Given the description of an element on the screen output the (x, y) to click on. 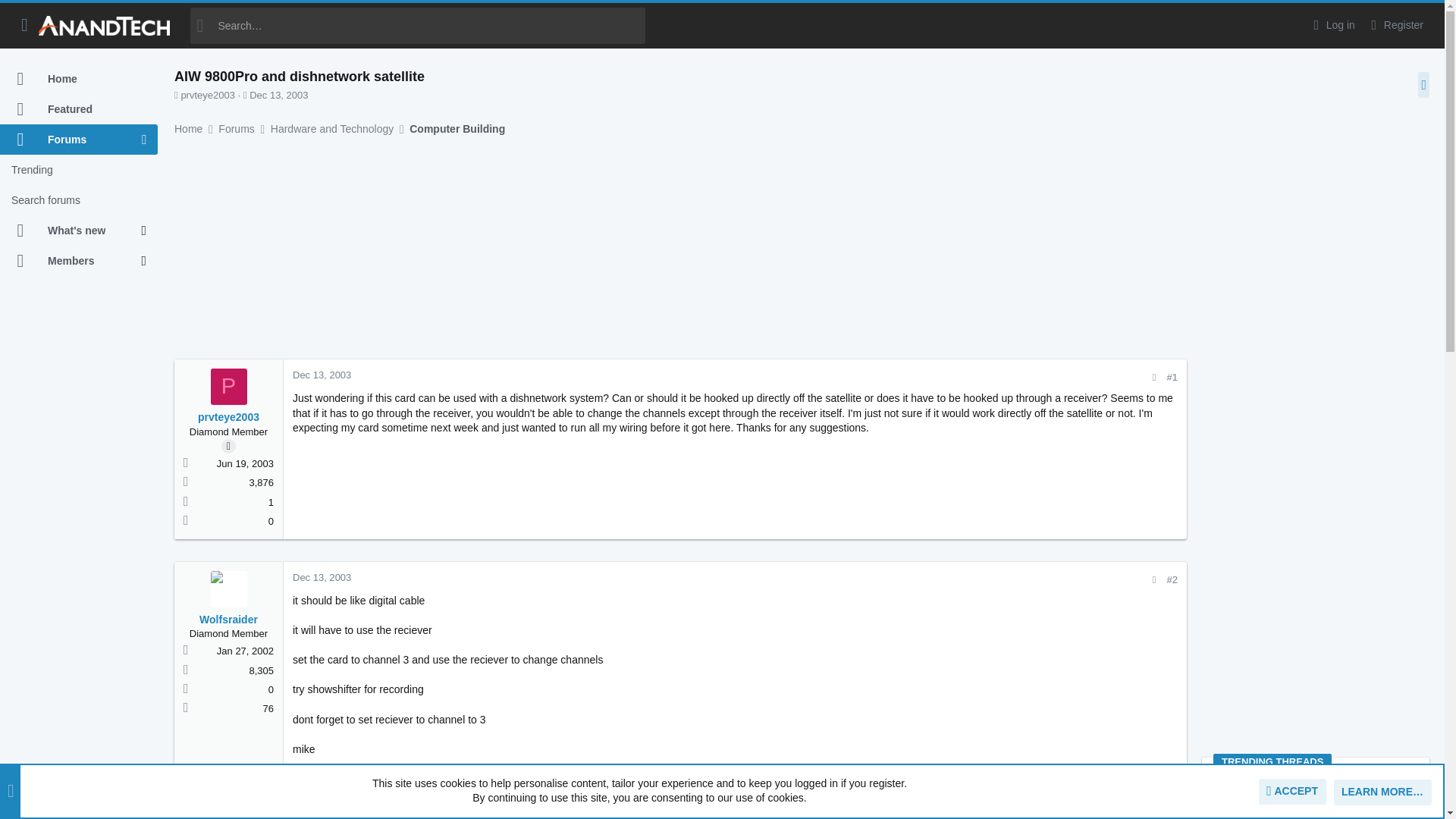
Home (78, 78)
Log in (1332, 24)
What's new (70, 230)
Register (1395, 24)
Forums (70, 139)
Trending (78, 169)
Original poster (228, 445)
Featured (78, 109)
Search forums (78, 200)
Dec 13, 2003 at 11:23 PM (277, 94)
